Given the description of an element on the screen output the (x, y) to click on. 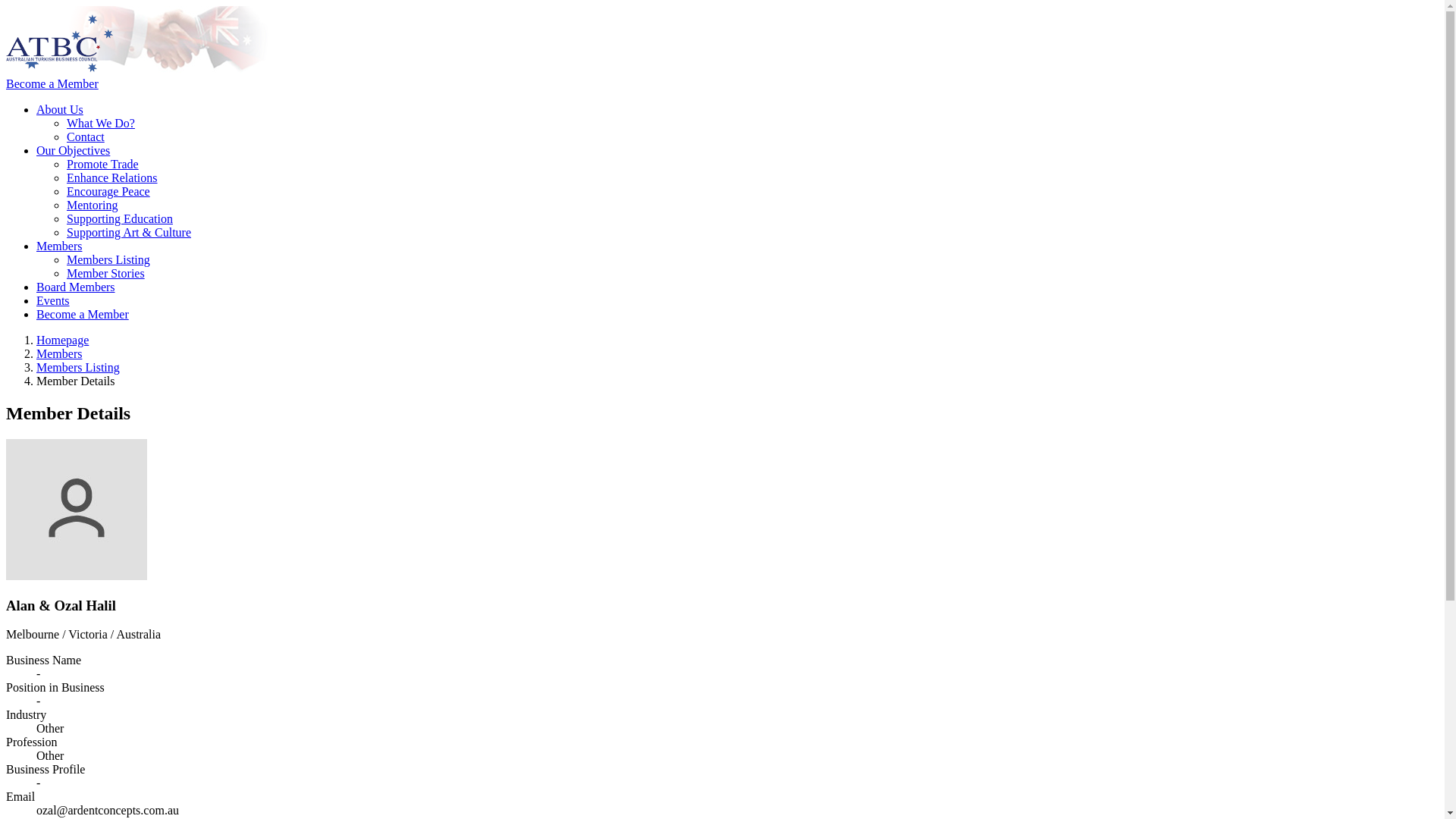
Promote Trade Element type: text (102, 163)
Our Objectives Element type: text (72, 150)
Members Listing Element type: text (77, 366)
Become a Member Element type: text (52, 83)
Members Listing Element type: text (108, 259)
Members Element type: text (58, 353)
Board Members Element type: text (75, 286)
Events Element type: text (52, 300)
Members Element type: text (58, 245)
Become a Member Element type: text (82, 313)
Supporting Education Element type: text (119, 218)
What We Do? Element type: text (100, 122)
About Us Element type: text (59, 109)
Contact Element type: text (85, 136)
Member Stories Element type: text (105, 272)
Mentoring Element type: text (92, 204)
Homepage Element type: text (62, 339)
Encourage Peace Element type: text (108, 191)
Enhance Relations Element type: text (111, 177)
Supporting Art & Culture Element type: text (128, 231)
